Given the description of an element on the screen output the (x, y) to click on. 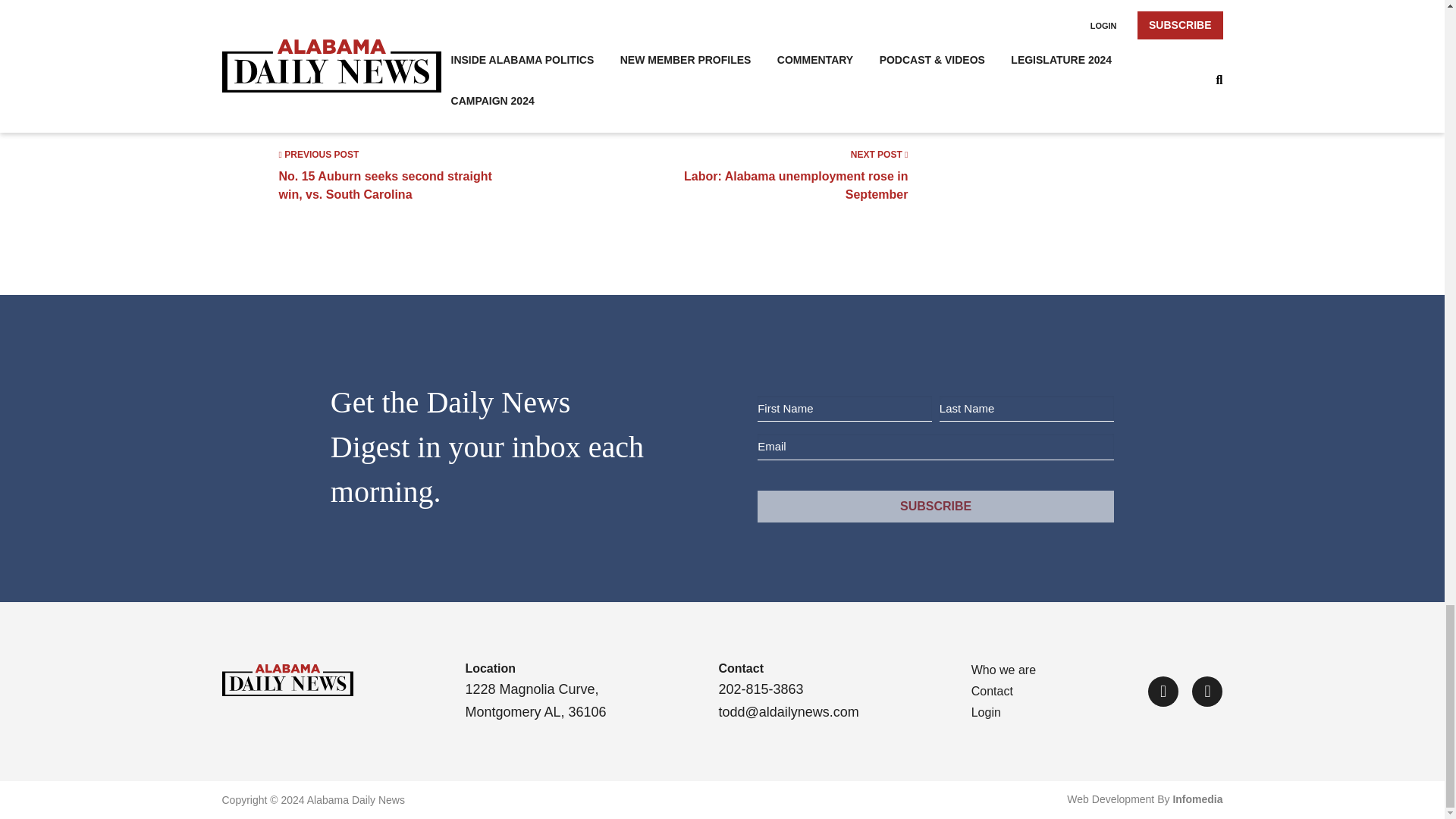
Facebook - AL Daily News (1162, 691)
Subscribe (793, 174)
